Given the description of an element on the screen output the (x, y) to click on. 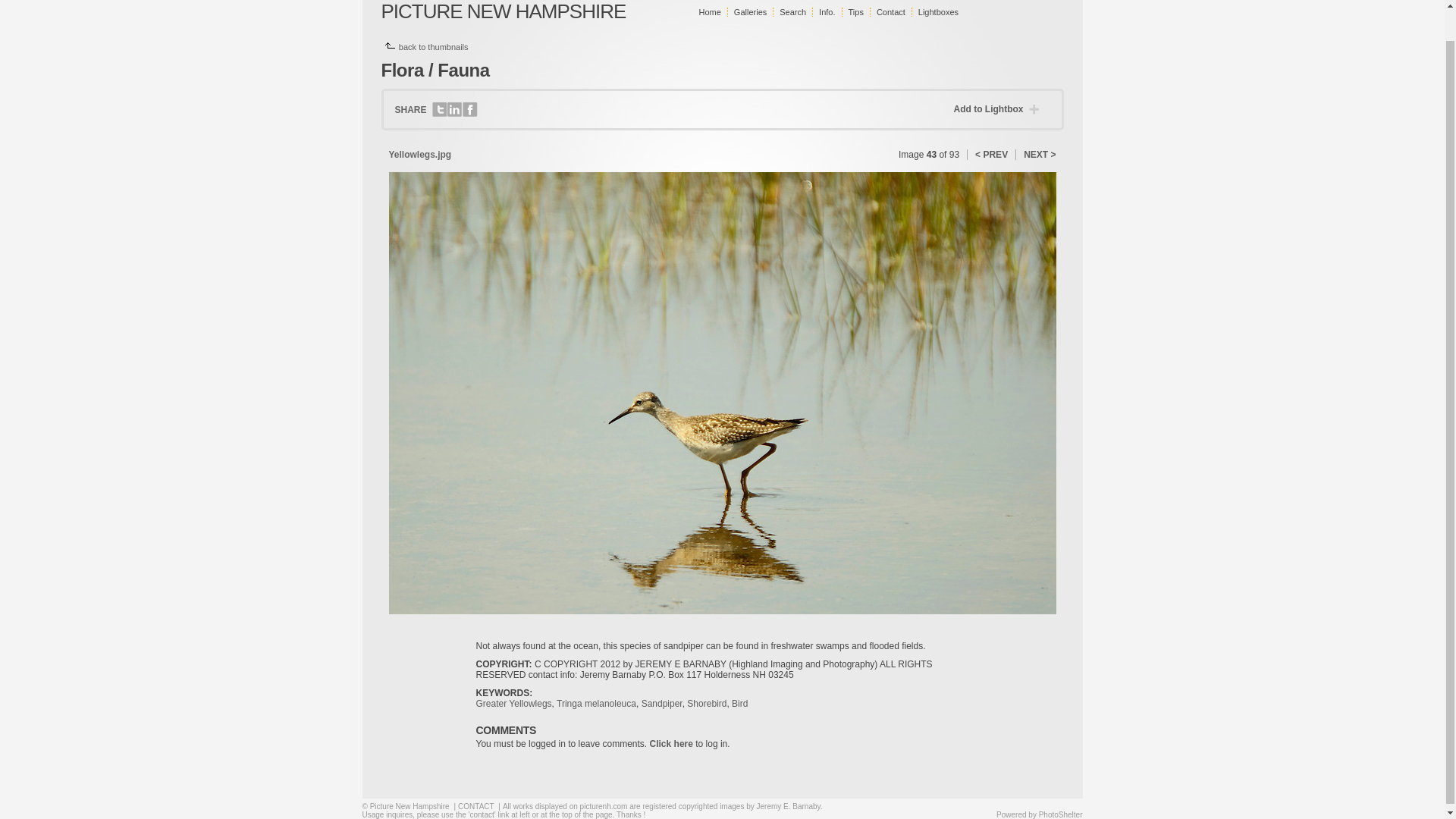
Info. (826, 11)
PICTURE NEW HAMPSHIRE (503, 11)
Search (792, 11)
Search (792, 11)
back to thumbnails (433, 46)
Tringa melanoleuca (596, 703)
Tips (855, 11)
Bird (740, 703)
Add to Lightbox (999, 109)
CONTACT (475, 806)
